Given the description of an element on the screen output the (x, y) to click on. 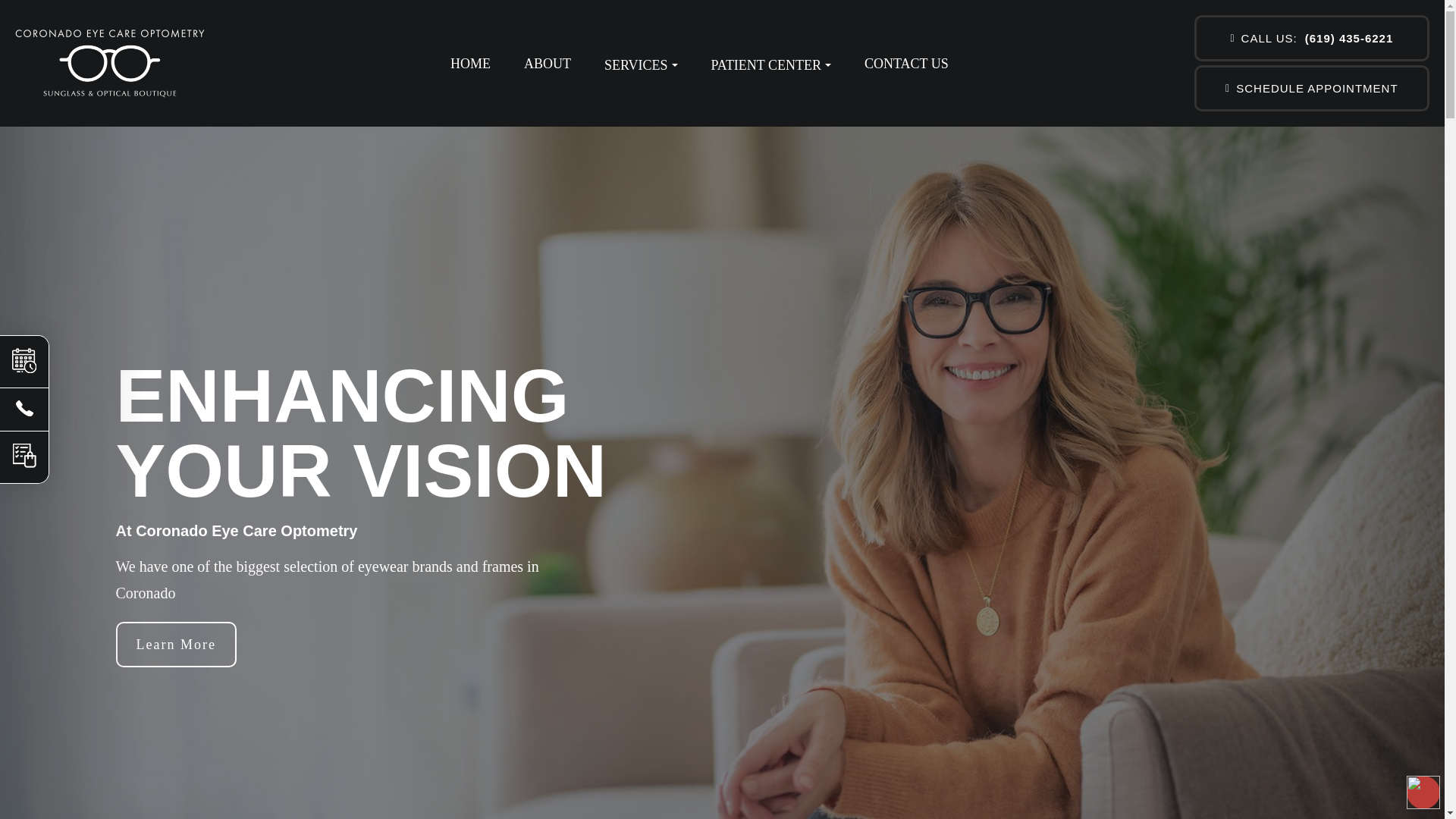
ABOUT (547, 63)
CONTACT US (906, 63)
PATIENT CENTER (771, 64)
HOME (469, 63)
SERVICES (641, 64)
Accessibility Menu (1422, 792)
SCHEDULE APPOINTMENT (1311, 88)
